Given the description of an element on the screen output the (x, y) to click on. 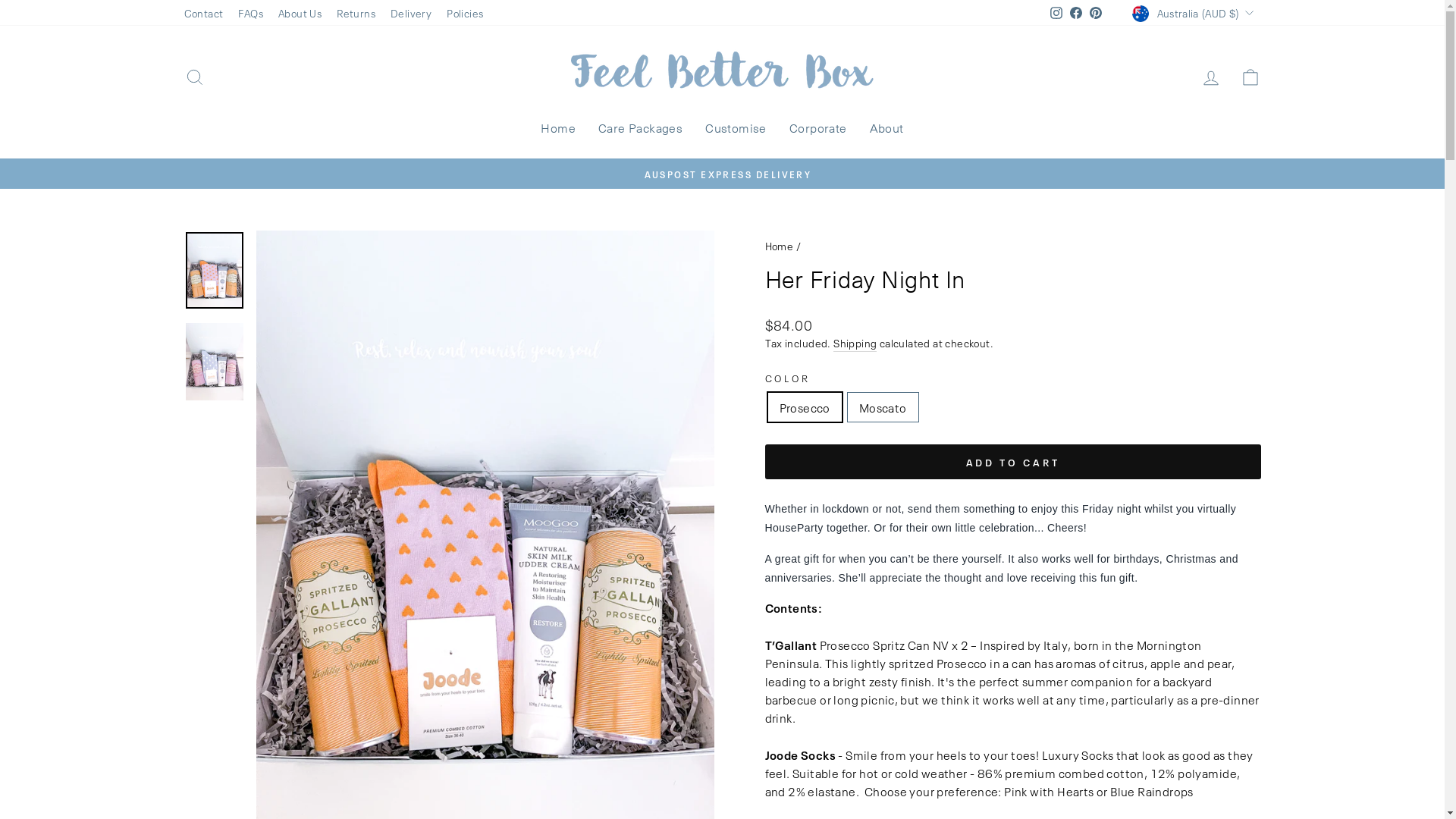
Pinterest Element type: text (1095, 13)
Search Element type: text (193, 76)
Corporate Element type: text (818, 128)
ADD TO CART Element type: text (1012, 461)
Customise Element type: text (735, 128)
Log in Element type: text (1210, 76)
FAQs Element type: text (250, 12)
About Us Element type: text (299, 12)
Instagram Element type: text (1056, 13)
Home Element type: text (557, 128)
Returns Element type: text (355, 12)
Policies Element type: text (464, 12)
Home Element type: text (778, 245)
Cart Element type: text (1249, 76)
About Element type: text (886, 128)
Delivery Element type: text (410, 12)
Care Packages Element type: text (639, 128)
Australia (AUD $) Element type: text (1194, 12)
Facebook Element type: text (1075, 13)
Shipping Element type: text (854, 343)
Contact Element type: text (202, 12)
